Given the description of an element on the screen output the (x, y) to click on. 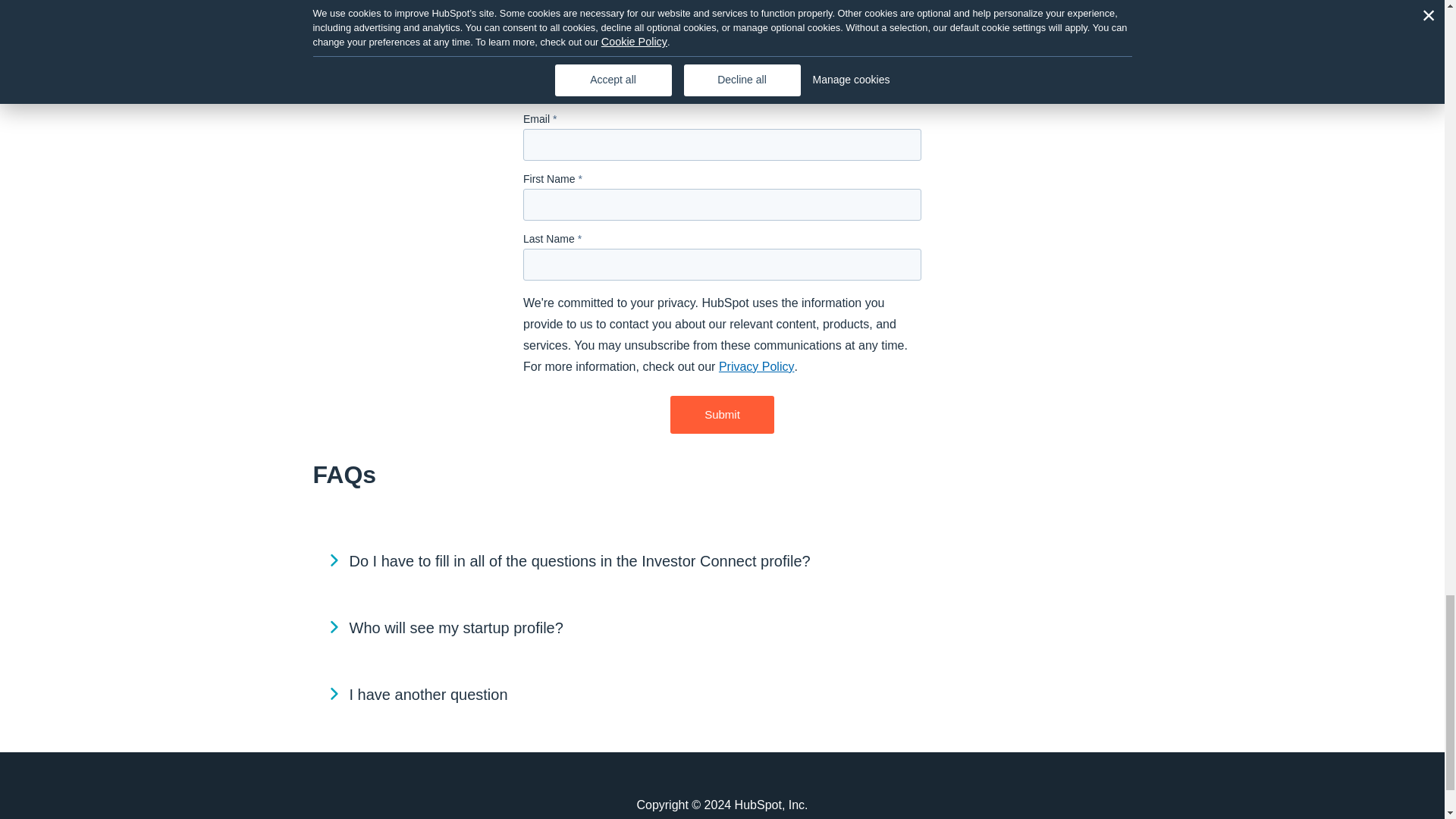
Privacy Policy (756, 366)
I have another question (722, 694)
Submit (721, 414)
Who will see my startup profile? (722, 627)
Submit (721, 414)
